Given the description of an element on the screen output the (x, y) to click on. 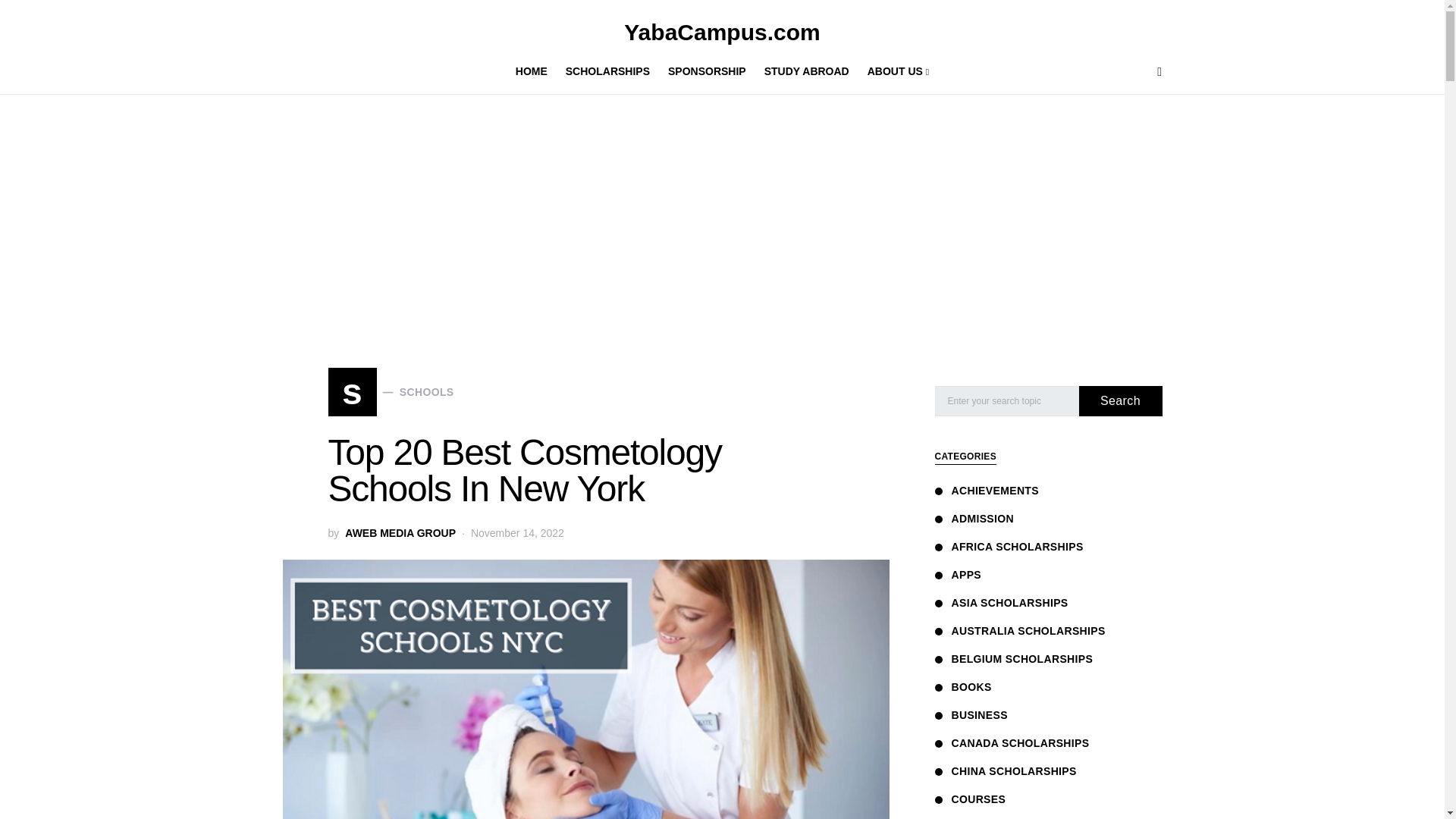
ABOUT US (894, 71)
SPONSORSHIP (707, 71)
SCHOLARSHIPS (607, 71)
YabaCampus.com (721, 32)
View all posts by AWEB MEDIA GROUP (389, 391)
STUDY ABROAD (400, 533)
AWEB MEDIA GROUP (807, 71)
HOME (400, 533)
